Given the description of an element on the screen output the (x, y) to click on. 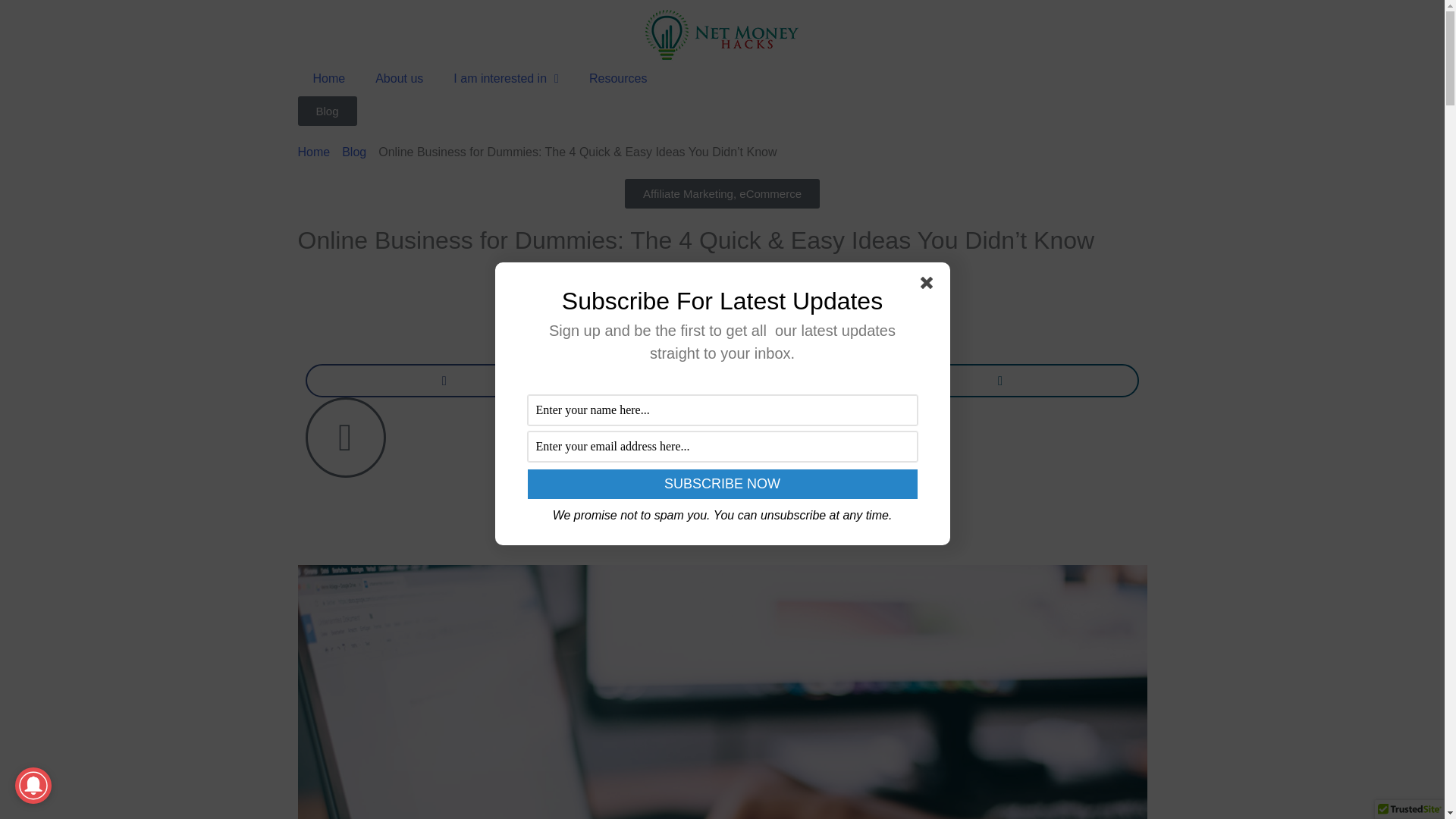
About us (398, 78)
Subscribe Now (722, 483)
Home (328, 78)
I am interested in (505, 78)
Blog (326, 111)
Resources (617, 78)
